Given the description of an element on the screen output the (x, y) to click on. 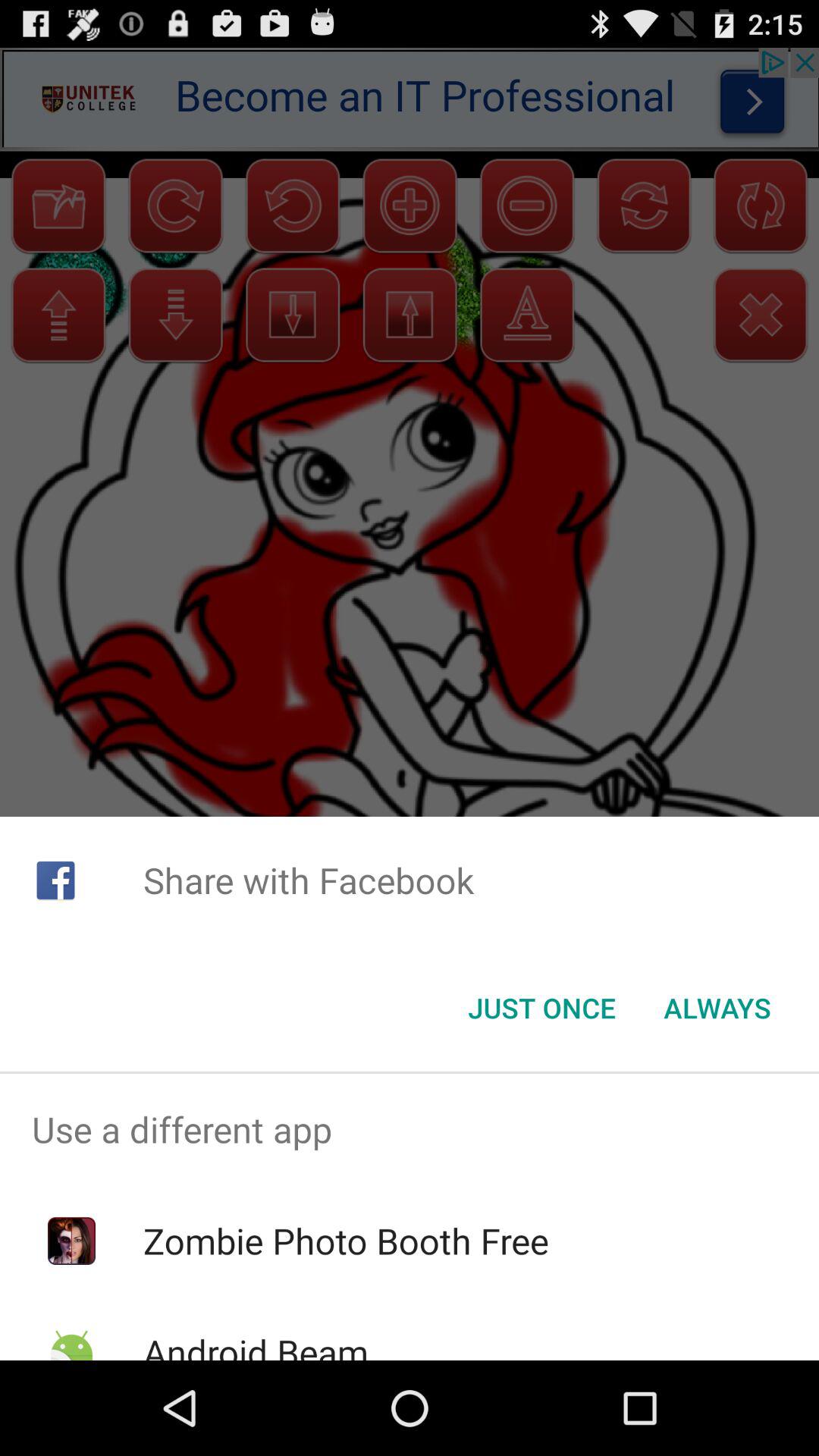
click icon to the left of the always (541, 1007)
